Given the description of an element on the screen output the (x, y) to click on. 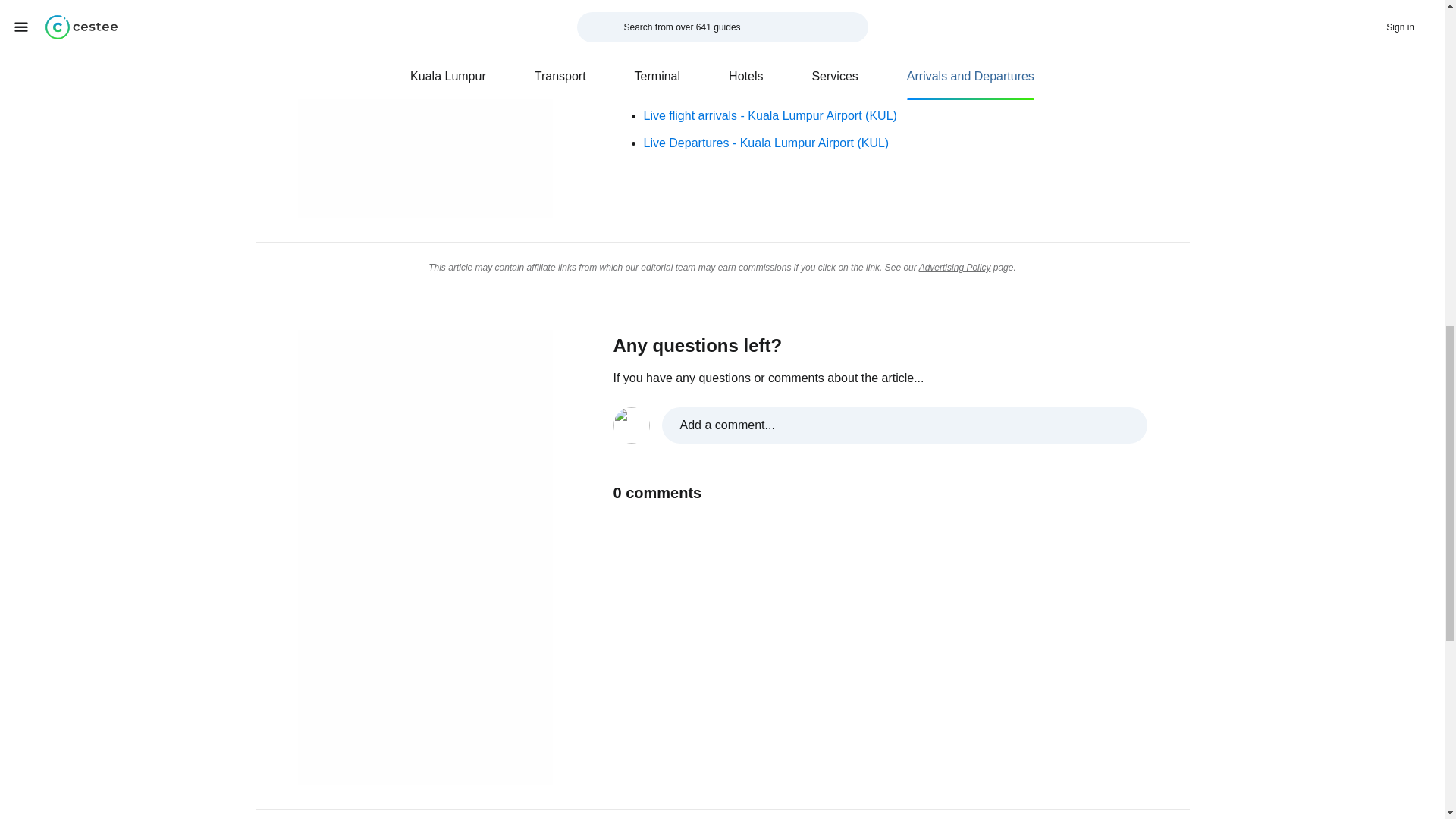
Advertising Policy (954, 267)
Add a comment... (879, 425)
Apply for compensation (705, 14)
